Given the description of an element on the screen output the (x, y) to click on. 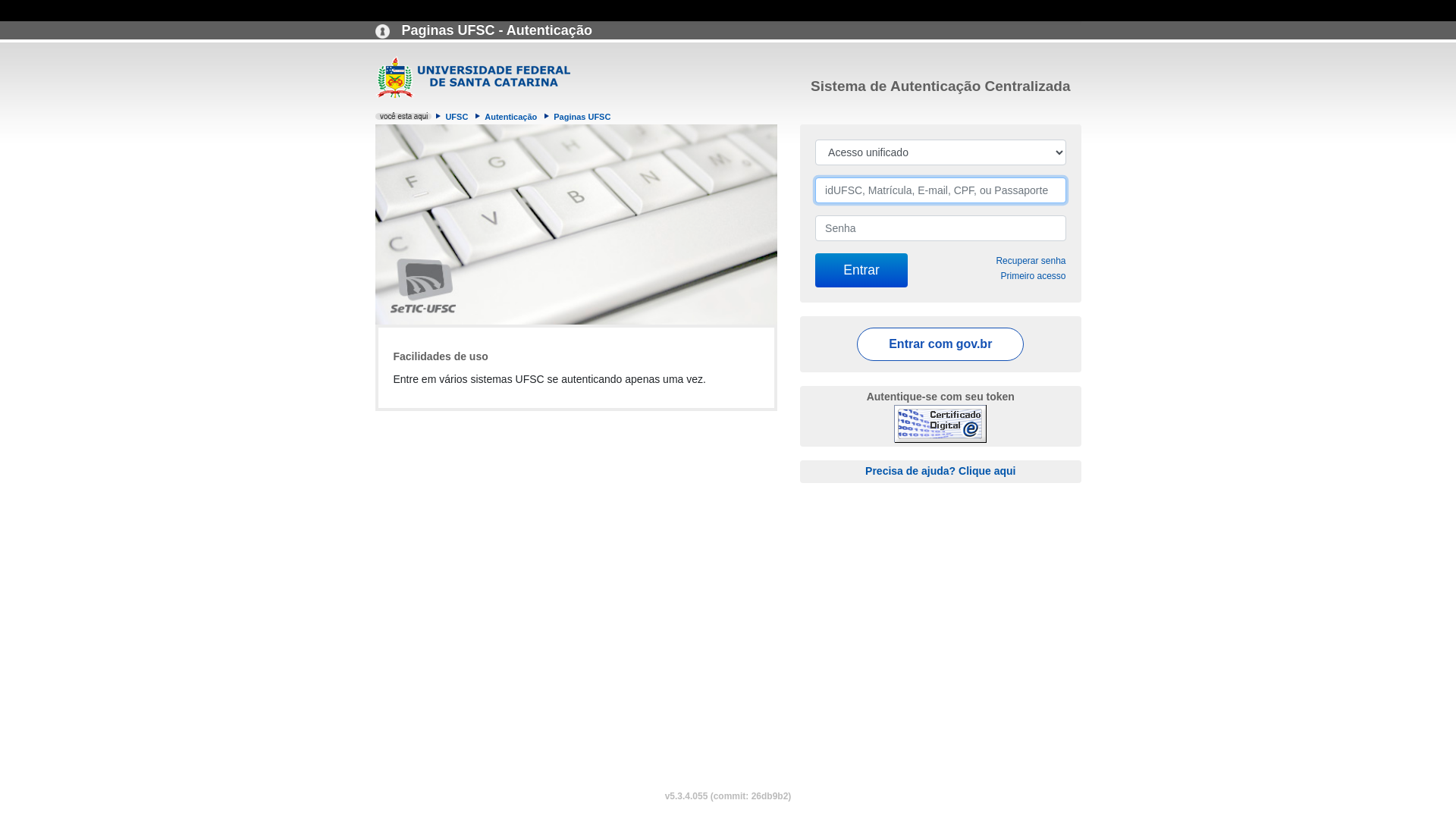
Precisa de ajuda? Clique aqui Element type: text (940, 470)
Entrar Element type: text (861, 270)
Paginas UFSC Element type: text (581, 116)
UFSC Element type: text (456, 116)
Recuperar senha Element type: text (1030, 260)
Primeiro acesso Element type: text (1032, 275)
Entrar com
gov.br Element type: text (939, 343)
